Given the description of an element on the screen output the (x, y) to click on. 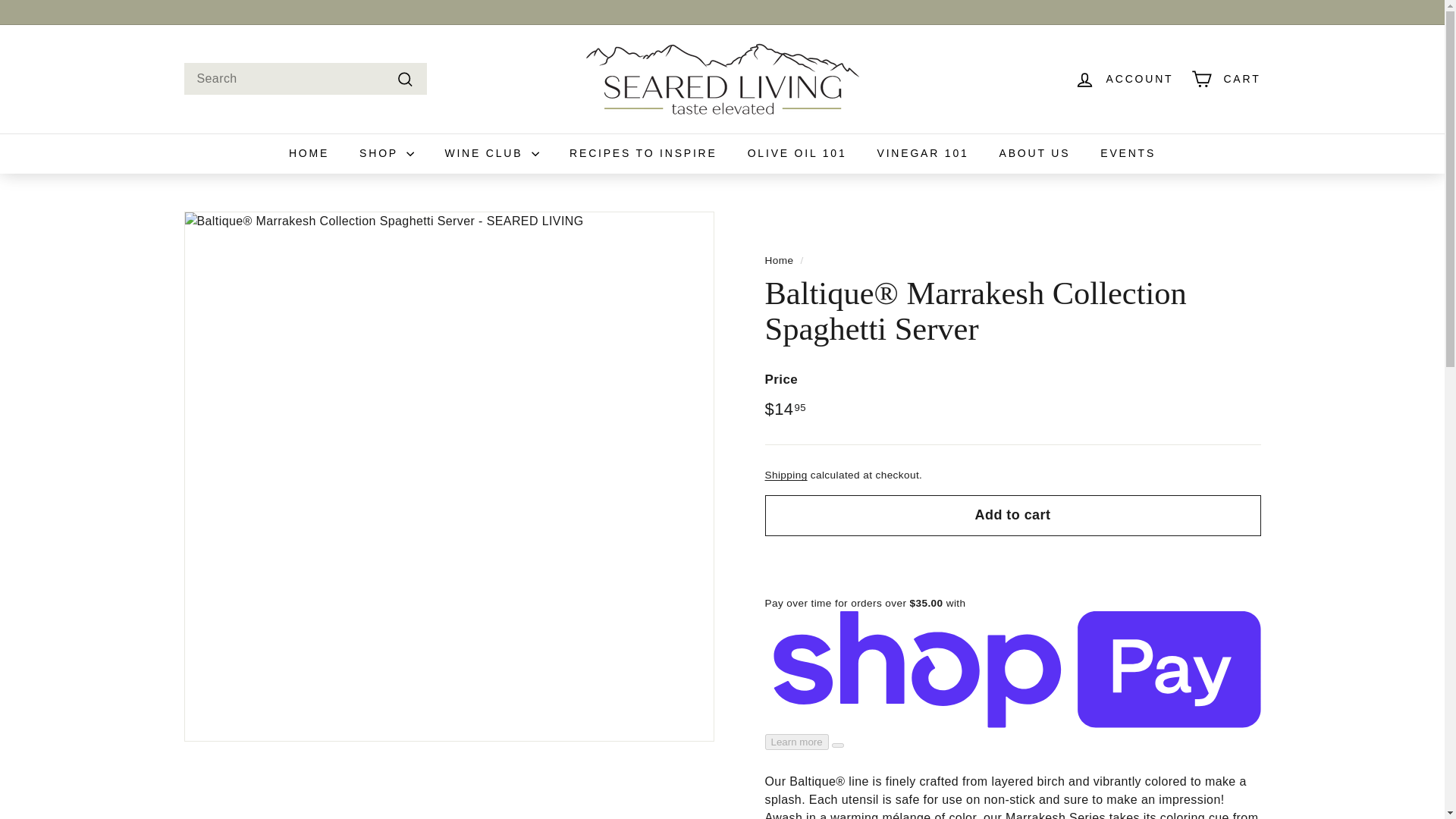
CART (1225, 78)
HOME (308, 153)
Back to the home page (778, 260)
ACCOUNT (1123, 78)
